Given the description of an element on the screen output the (x, y) to click on. 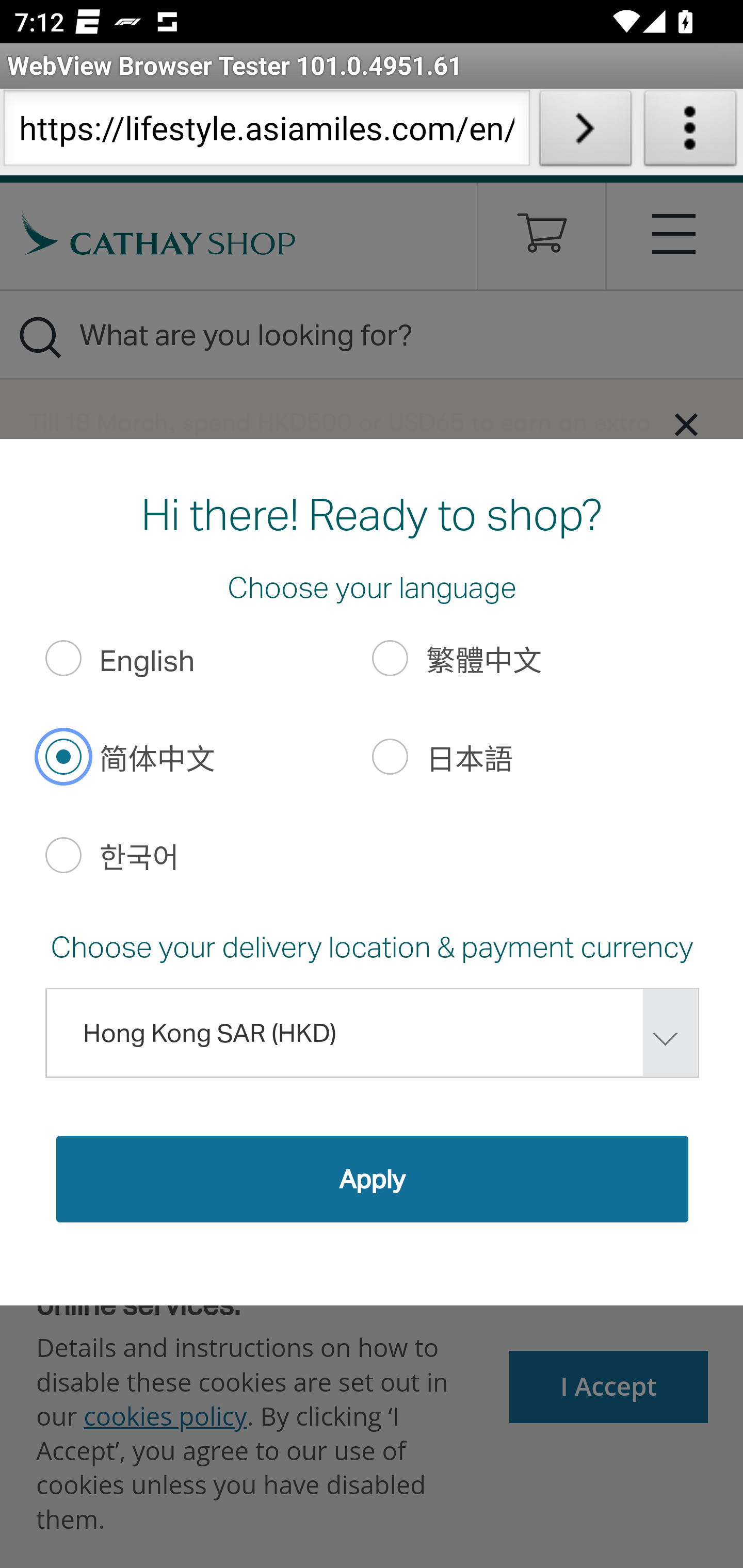
Load URL (585, 132)
About WebView (690, 132)
English (63, 658)
繁體中文 (390, 658)
简体中文 (63, 756)
日本語 (390, 756)
한국어 (63, 854)
Hong Kong SAR (HKD) (371, 1032)
apply (371, 1178)
